Given the description of an element on the screen output the (x, y) to click on. 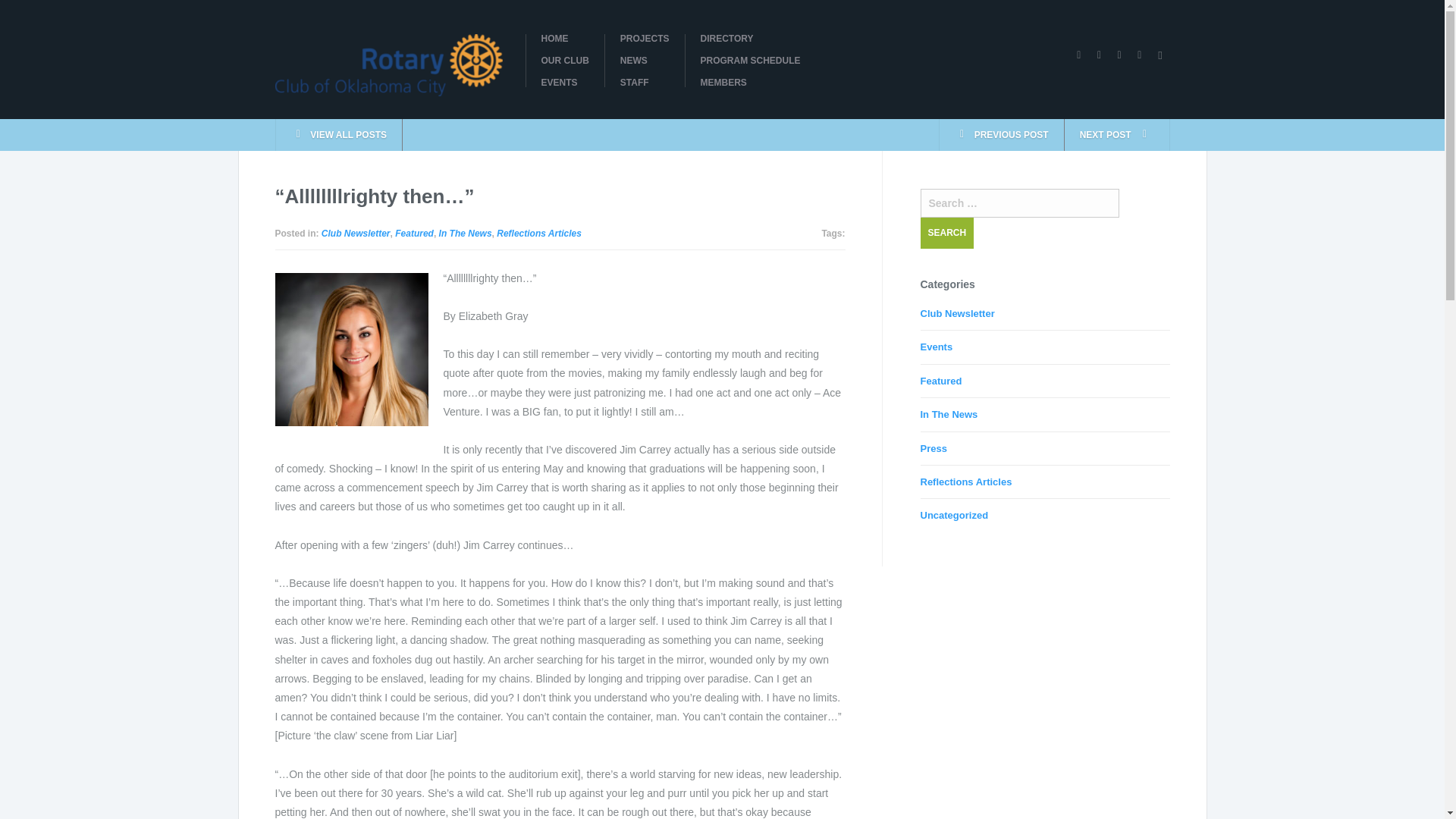
In The News (465, 233)
PREVIOUS POST (1001, 134)
Reflections Articles (965, 481)
MEMBERS (750, 81)
DIRECTORY (750, 38)
OUR CLUB (565, 60)
VIEW ALL POSTS (338, 134)
STAFF (644, 81)
HOME (565, 38)
Press (933, 448)
